Given the description of an element on the screen output the (x, y) to click on. 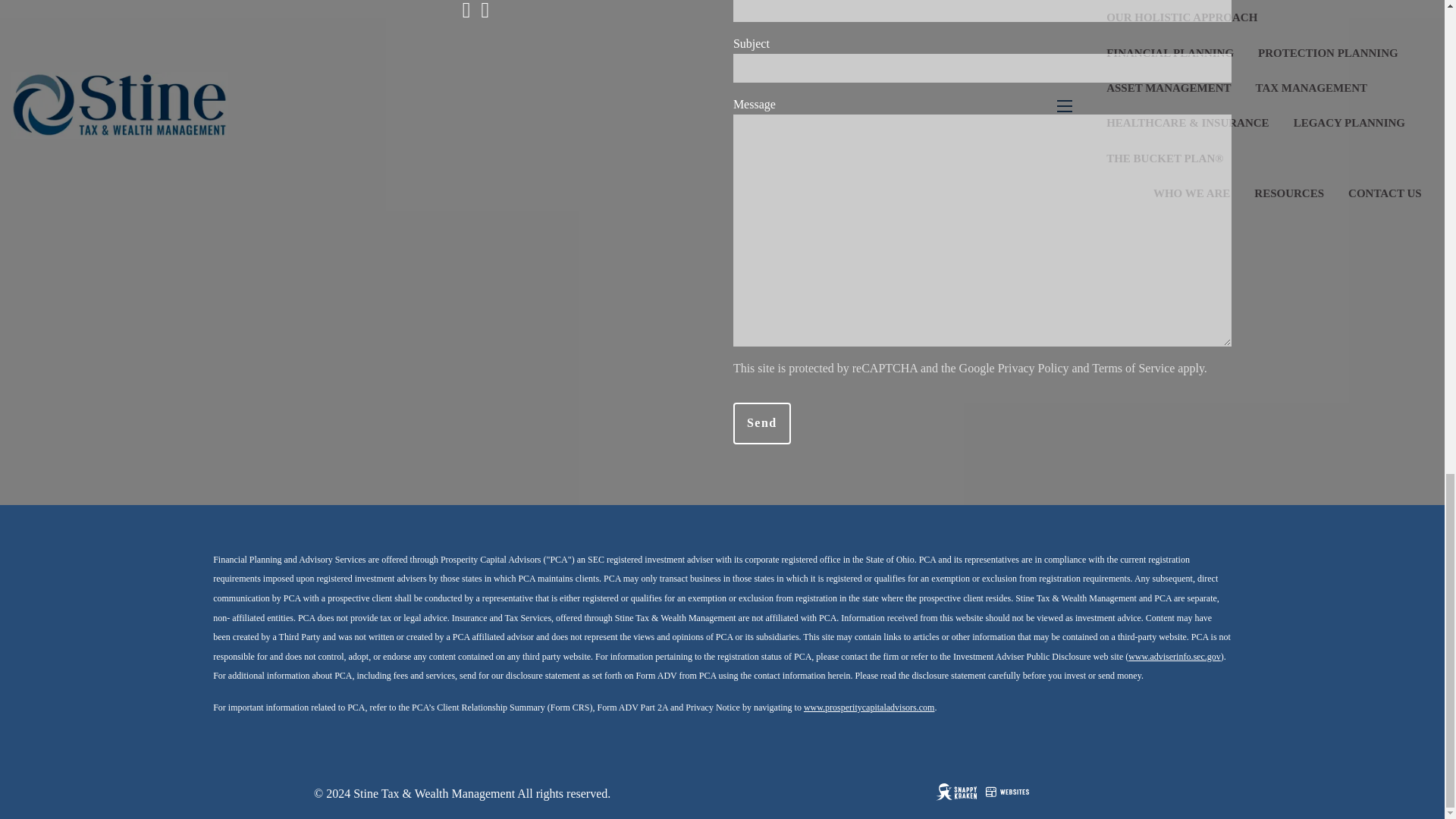
Privacy Policy (1032, 367)
Terms of Service (1133, 367)
Send (761, 423)
Send (761, 423)
www.adviserinfo.sec.gov (1174, 656)
www.prosperitycapitaladvisors.com (868, 706)
